Given the description of an element on the screen output the (x, y) to click on. 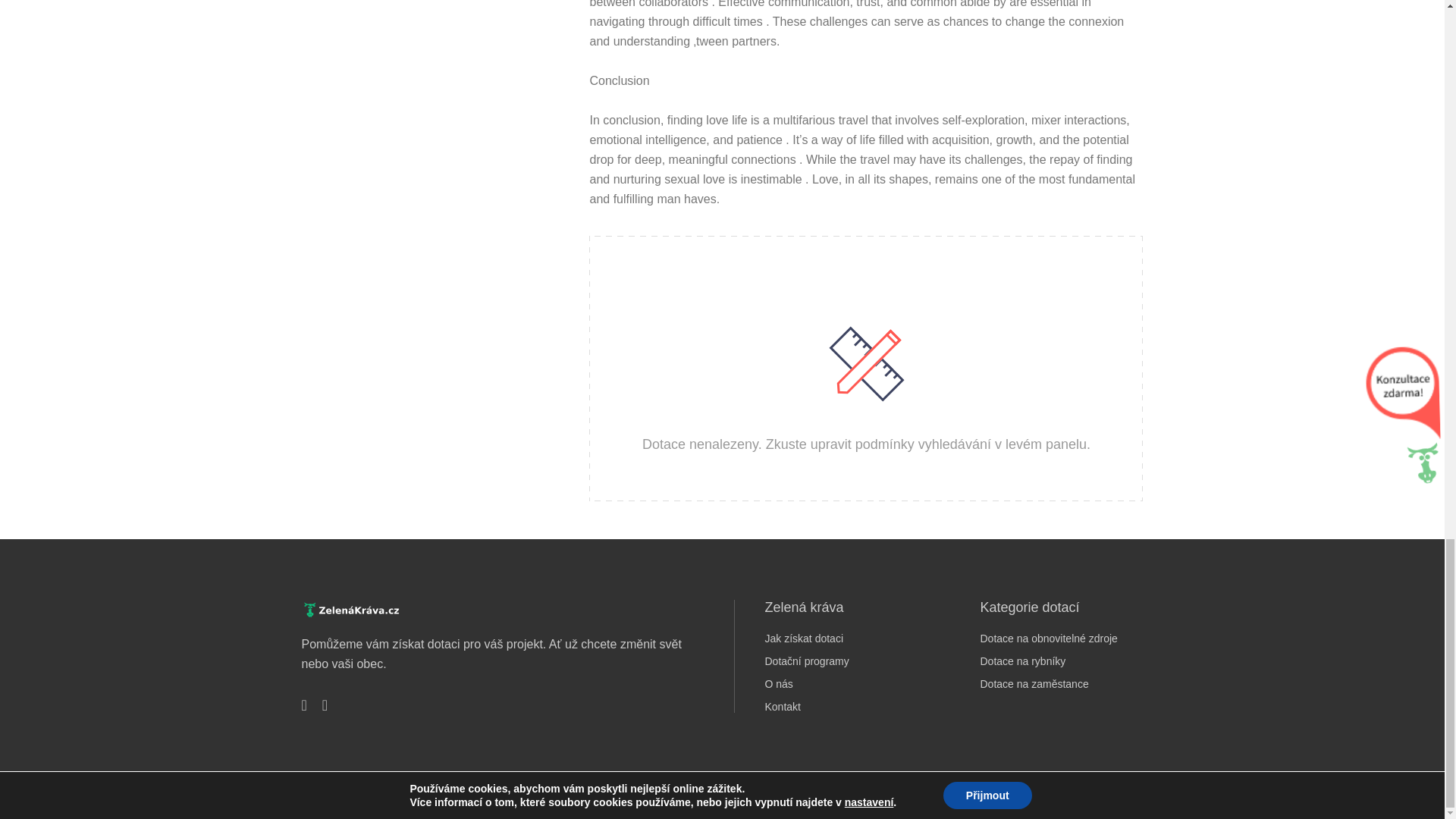
Kontakt (845, 706)
